Given the description of an element on the screen output the (x, y) to click on. 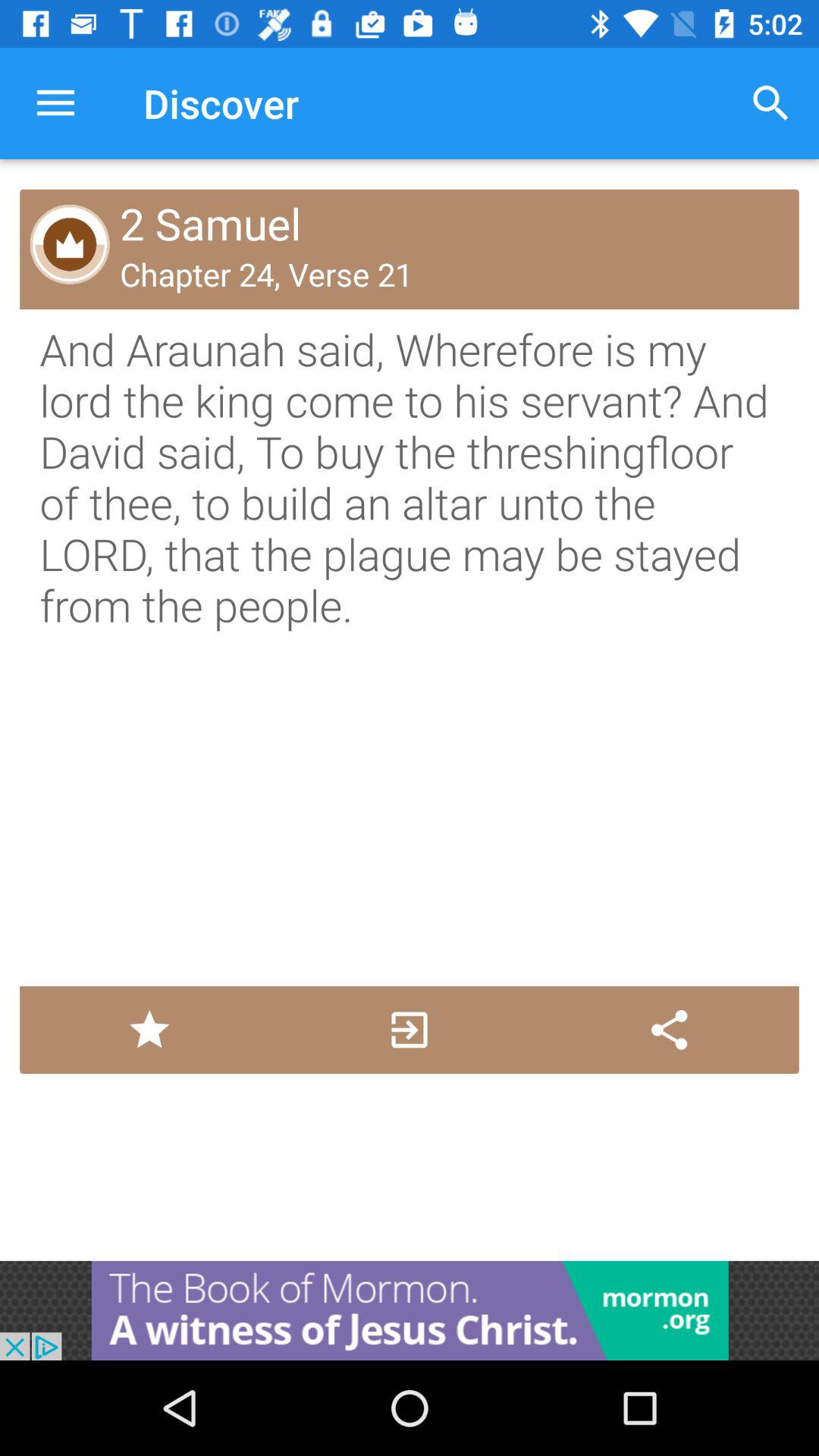
go forward (409, 1029)
